Given the description of an element on the screen output the (x, y) to click on. 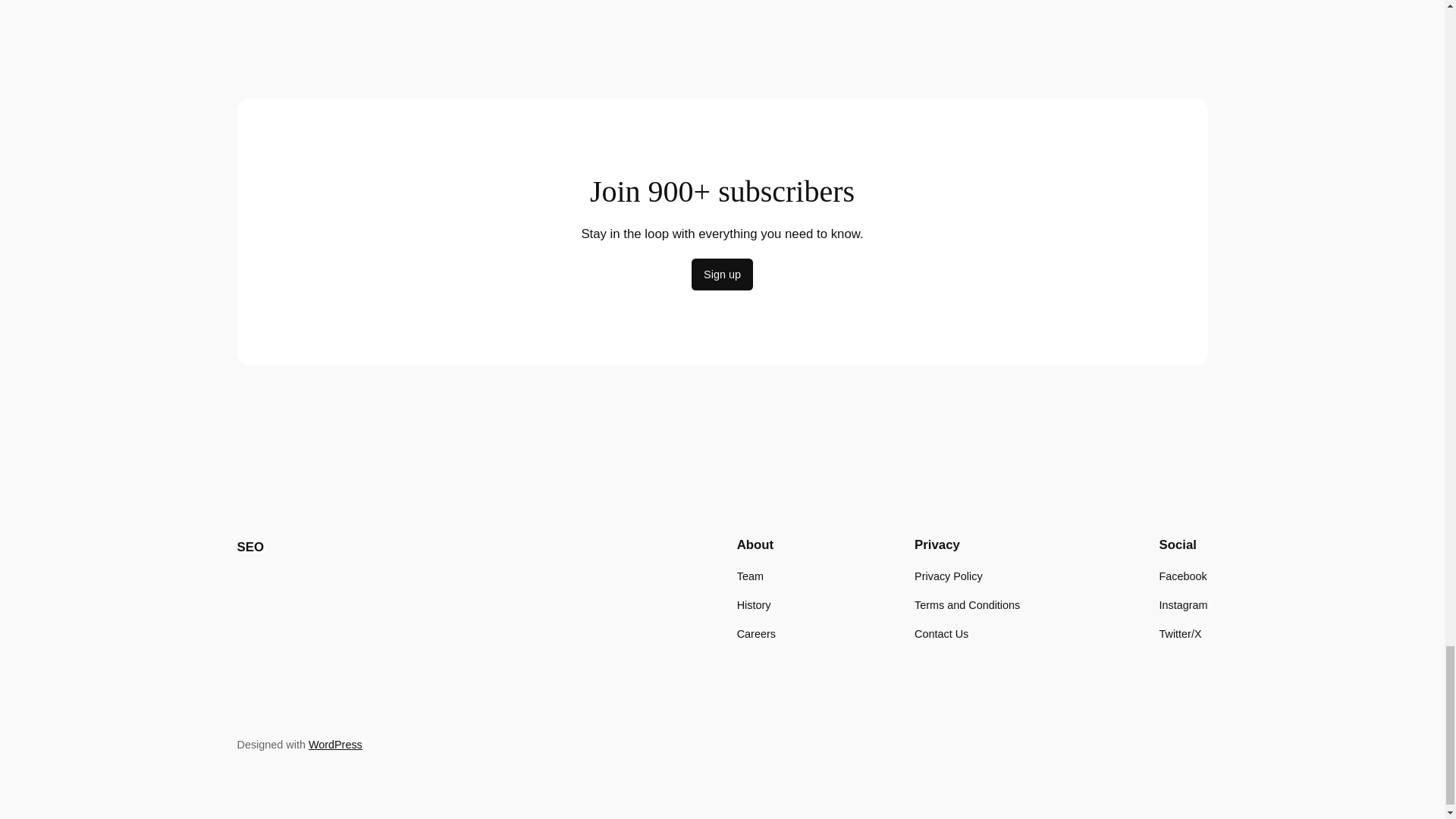
Facebook (1182, 575)
SEO (249, 546)
Terms and Conditions (967, 605)
Contact Us (941, 633)
WordPress (335, 744)
Sign up (721, 274)
Team (749, 575)
Careers (756, 633)
History (753, 605)
Privacy Policy (948, 575)
